Given the description of an element on the screen output the (x, y) to click on. 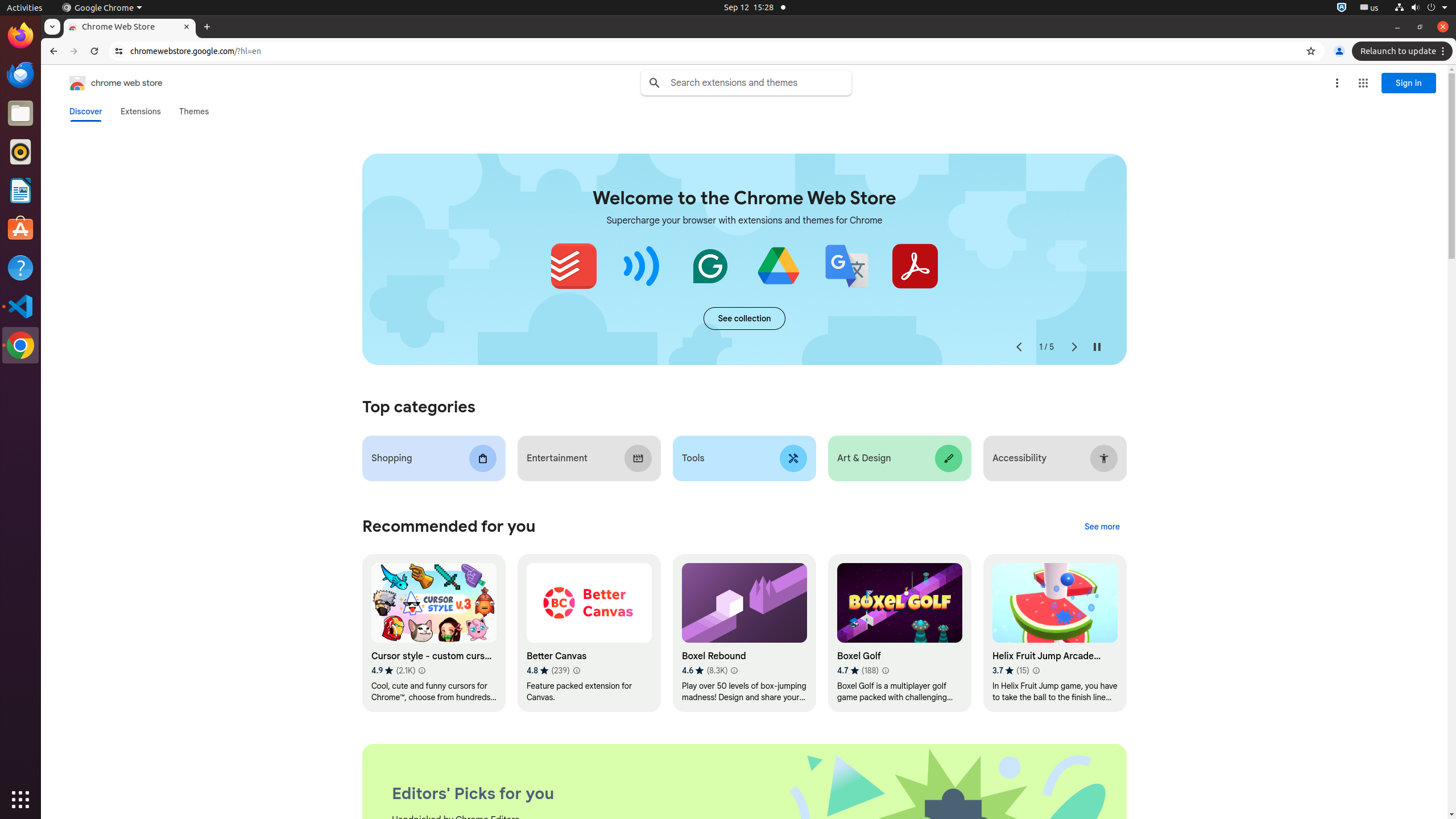
Extensions Element type: page-tab (140, 111)
Relaunch to update Element type: push-button (1403, 50)
Next slide Element type: push-button (1073, 346)
Art & Design Element type: link (899, 458)
Learn more about results and reviews "Boxel Golf" Element type: push-button (884, 670)
